Given the description of an element on the screen output the (x, y) to click on. 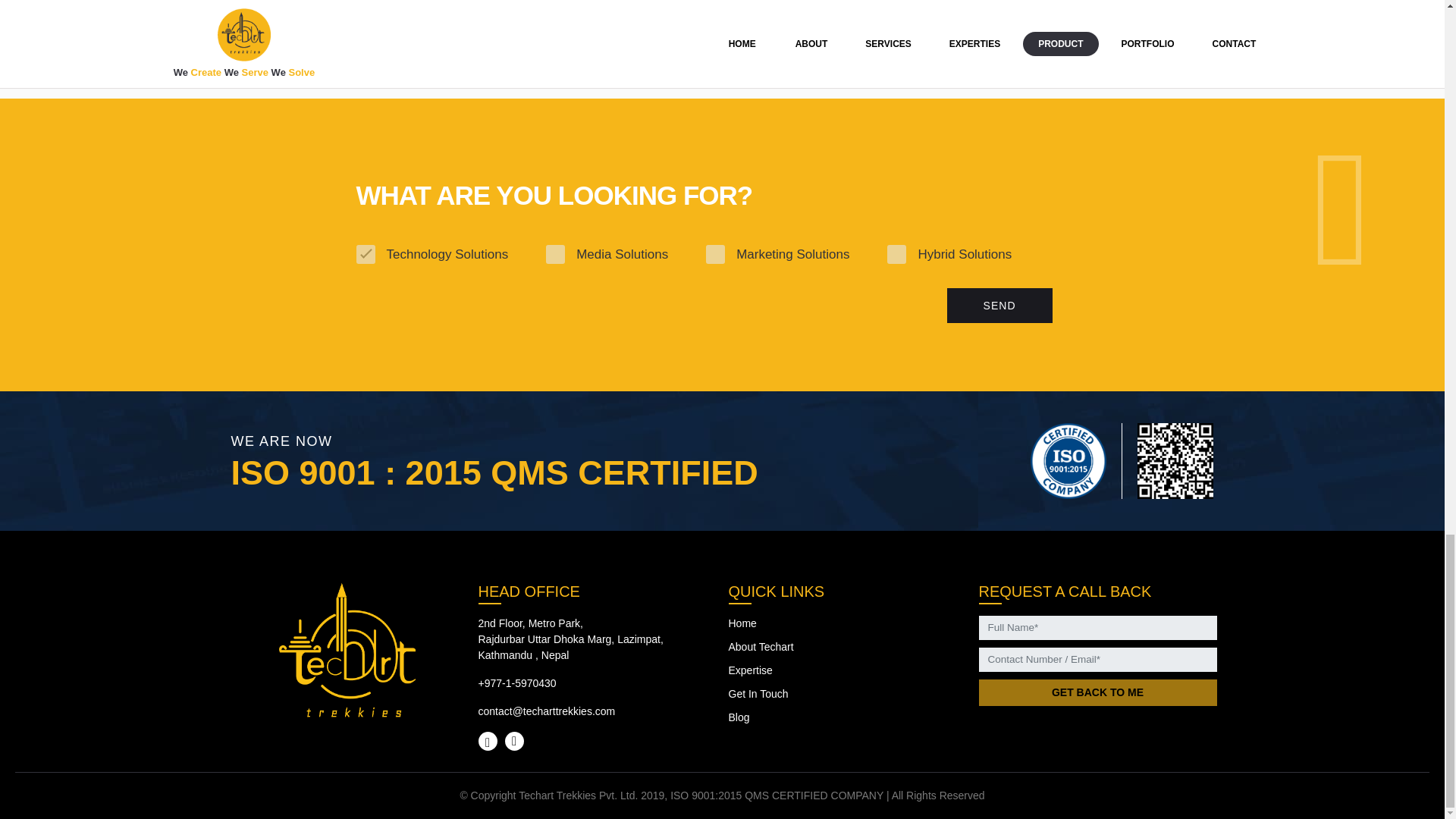
Home (741, 623)
Imaginesys (259, 74)
ISO 9001:2015 QMS CERTIFIED COMPANY (776, 795)
GET BACK TO ME (1096, 692)
Imaginesys (1184, 74)
Get In Touch (757, 693)
SEND (999, 305)
Blog (738, 717)
Expertise (749, 670)
Techart Trekkies Pvt. Ltd. (579, 795)
About Techart (760, 646)
